Given the description of an element on the screen output the (x, y) to click on. 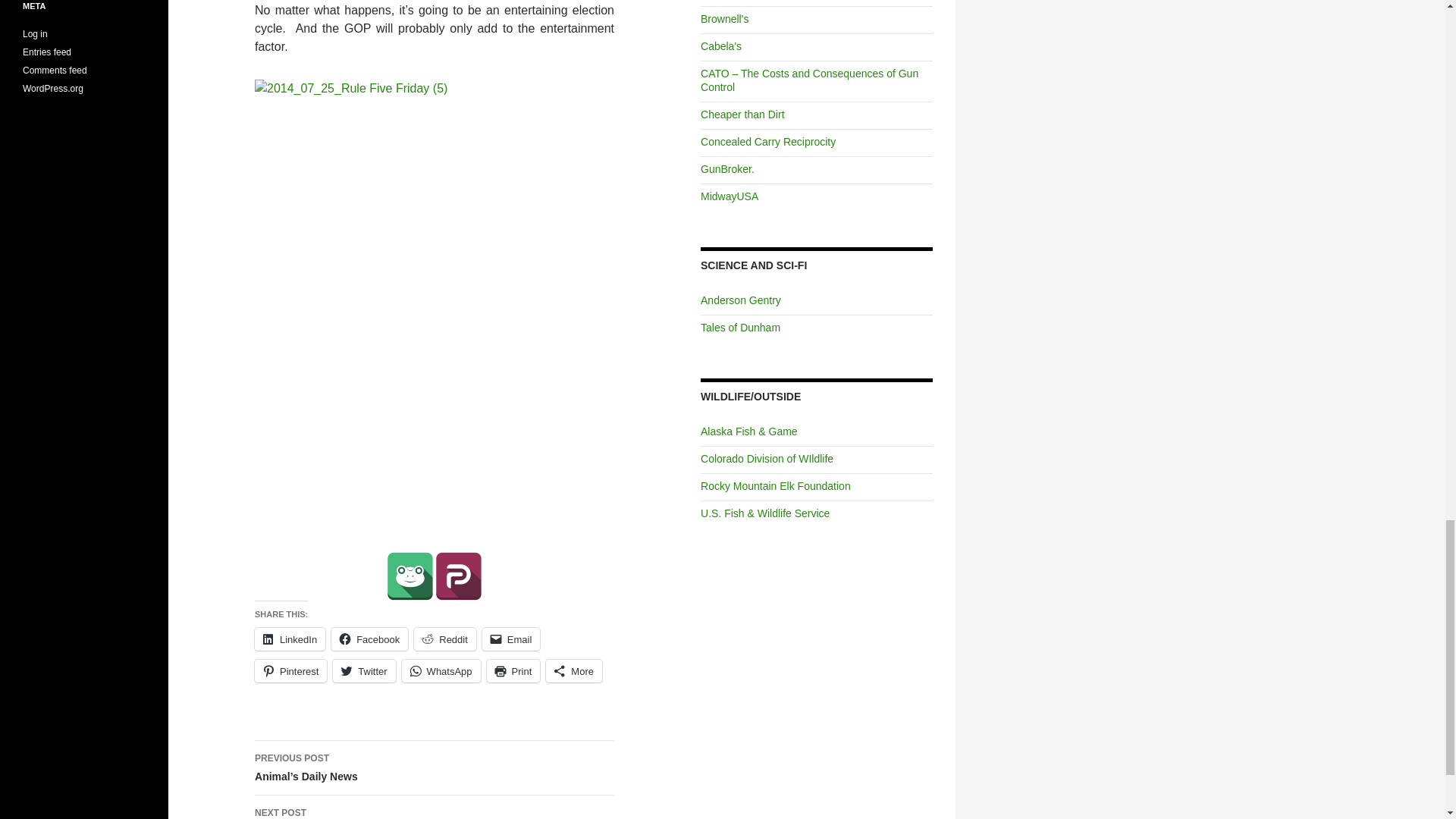
Parler (458, 576)
WhatsApp (440, 671)
Reddit (444, 639)
Email (510, 639)
Print (513, 671)
Click to share on Pinterest (290, 671)
LinkedIn (289, 639)
Click to email a link to a friend (510, 639)
Click to share on Facebook (369, 639)
